Given the description of an element on the screen output the (x, y) to click on. 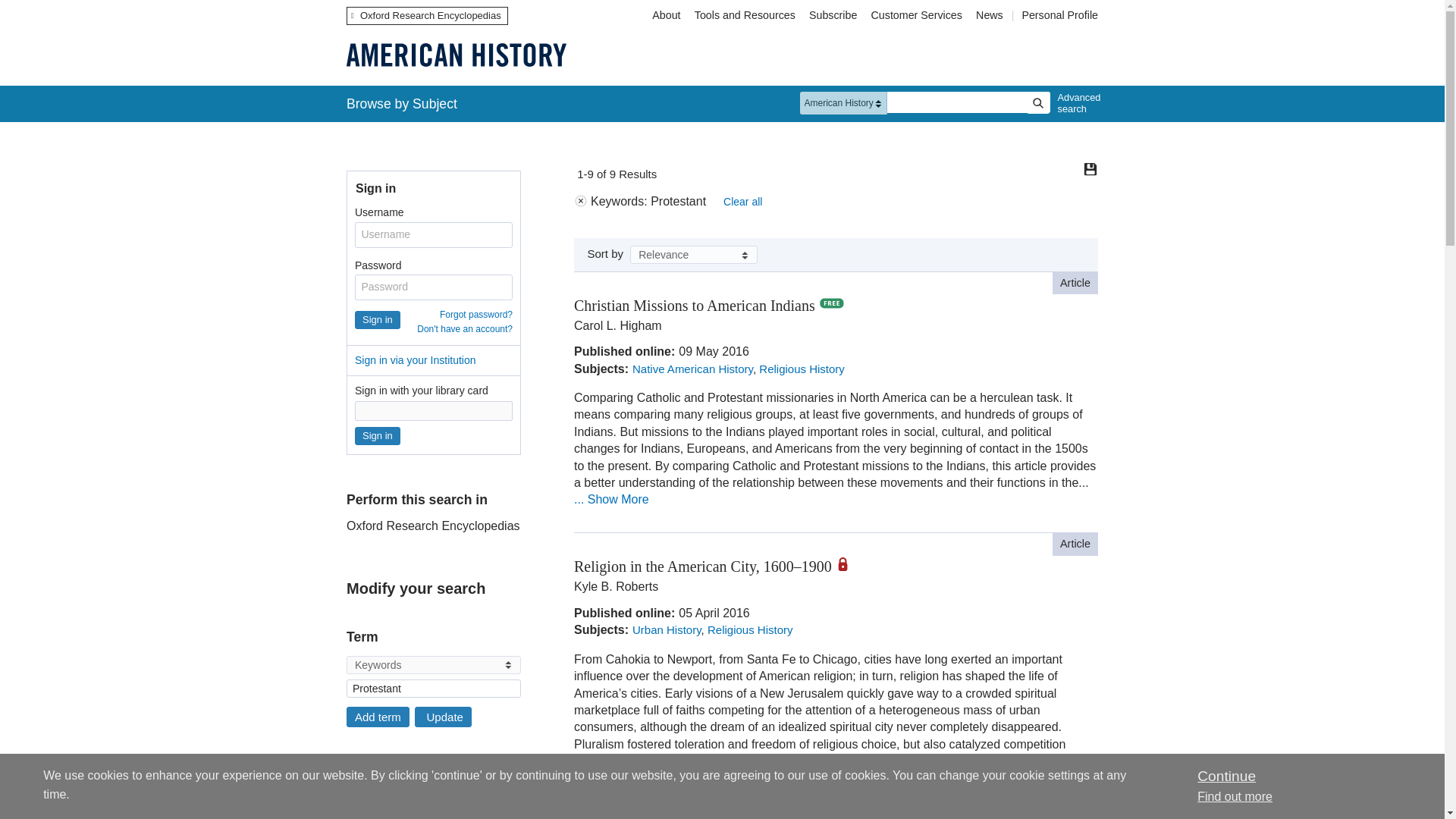
About (665, 15)
Search (1037, 102)
News (991, 15)
Oxford Research Encyclopedia of American History (456, 54)
Search (1037, 102)
Forgot password? (475, 314)
Browse by Subject (401, 103)
Find out more (1234, 796)
Close this message (1225, 775)
Sign in (377, 434)
Customer Services (917, 15)
free full text access (831, 303)
restricted access (848, 563)
Protestant (433, 688)
Tools and Resources (744, 15)
